Given the description of an element on the screen output the (x, y) to click on. 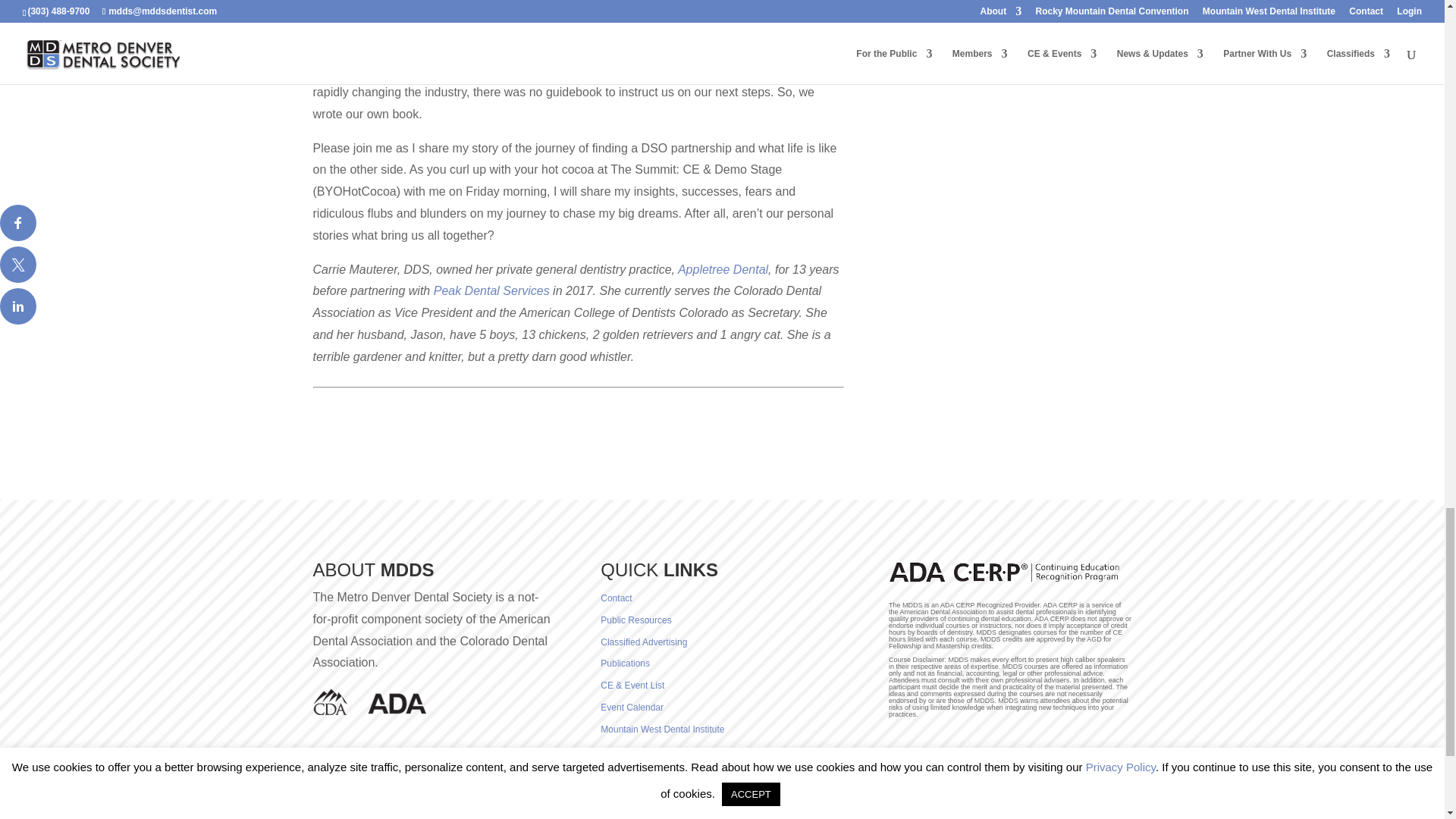
Follow on Instagram (397, 761)
Follow on Facebook (336, 761)
Follow on Twitter (366, 761)
